Given the description of an element on the screen output the (x, y) to click on. 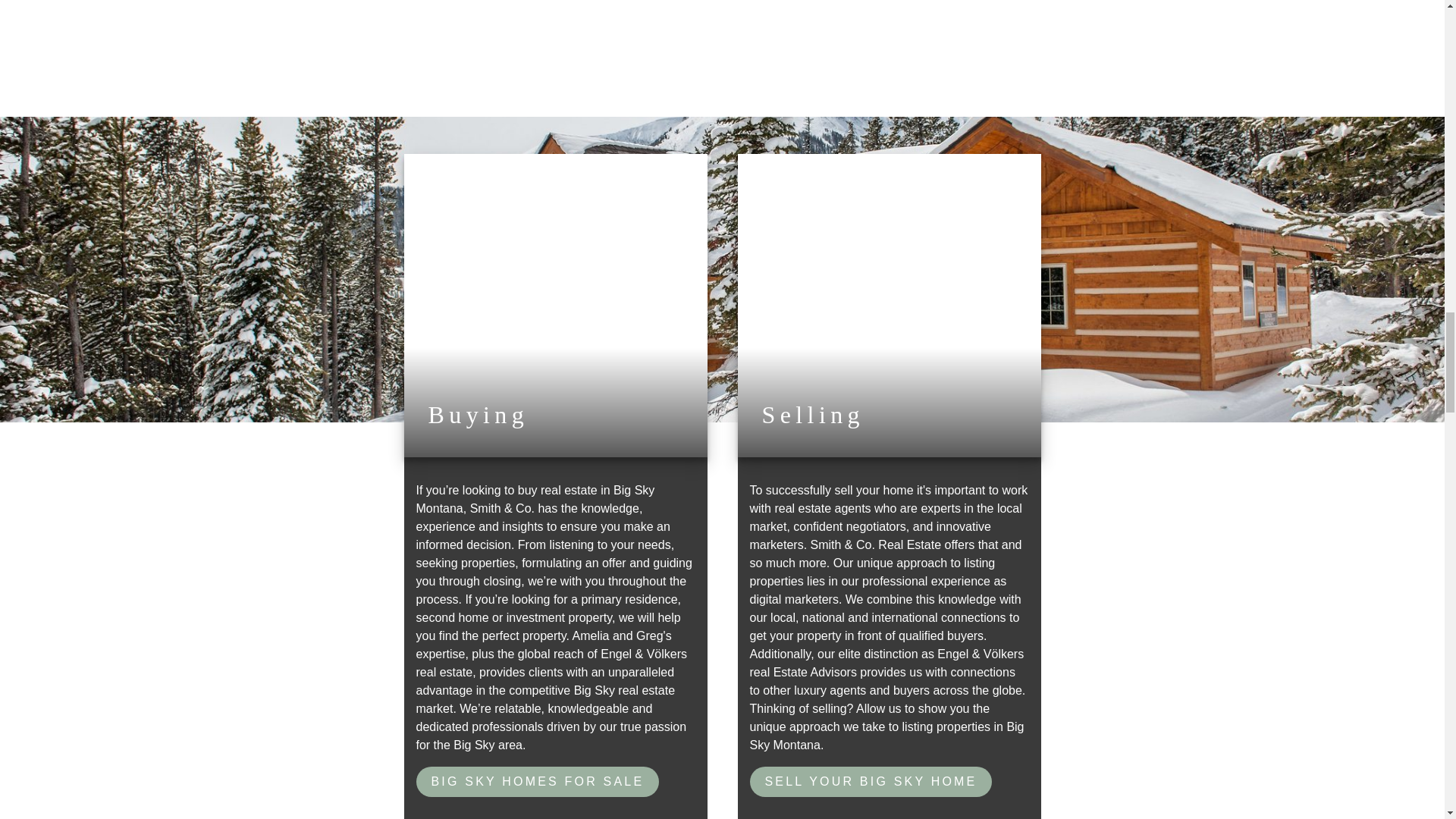
Buying (554, 305)
BIG SKY HOMES FOR SALE (536, 781)
